Given the description of an element on the screen output the (x, y) to click on. 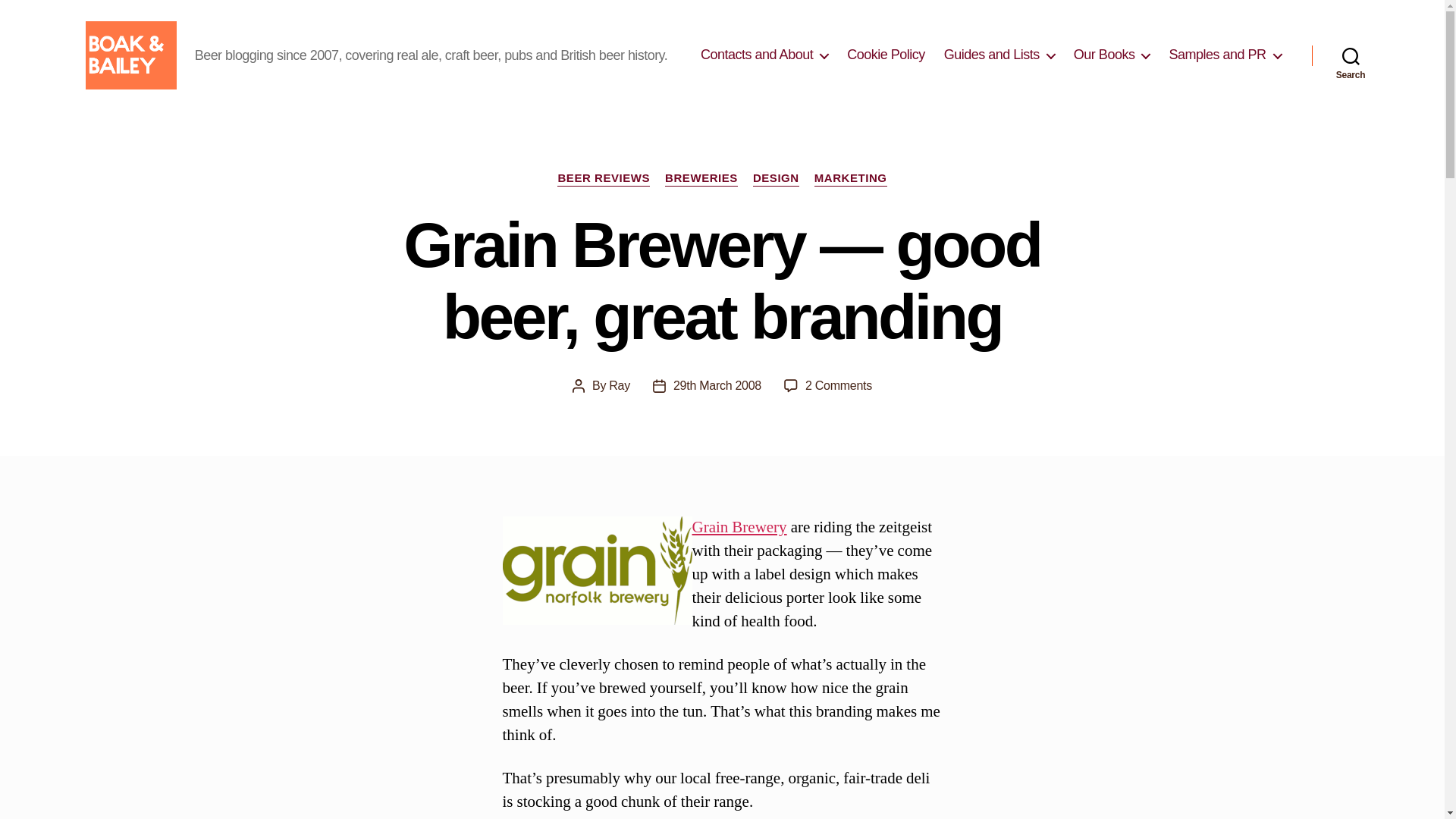
Contacts and About (764, 54)
Our Books (1112, 54)
Samples and PR (1225, 54)
Guides and Lists (998, 54)
Search (1350, 55)
Cookie Policy (885, 54)
